Given the description of an element on the screen output the (x, y) to click on. 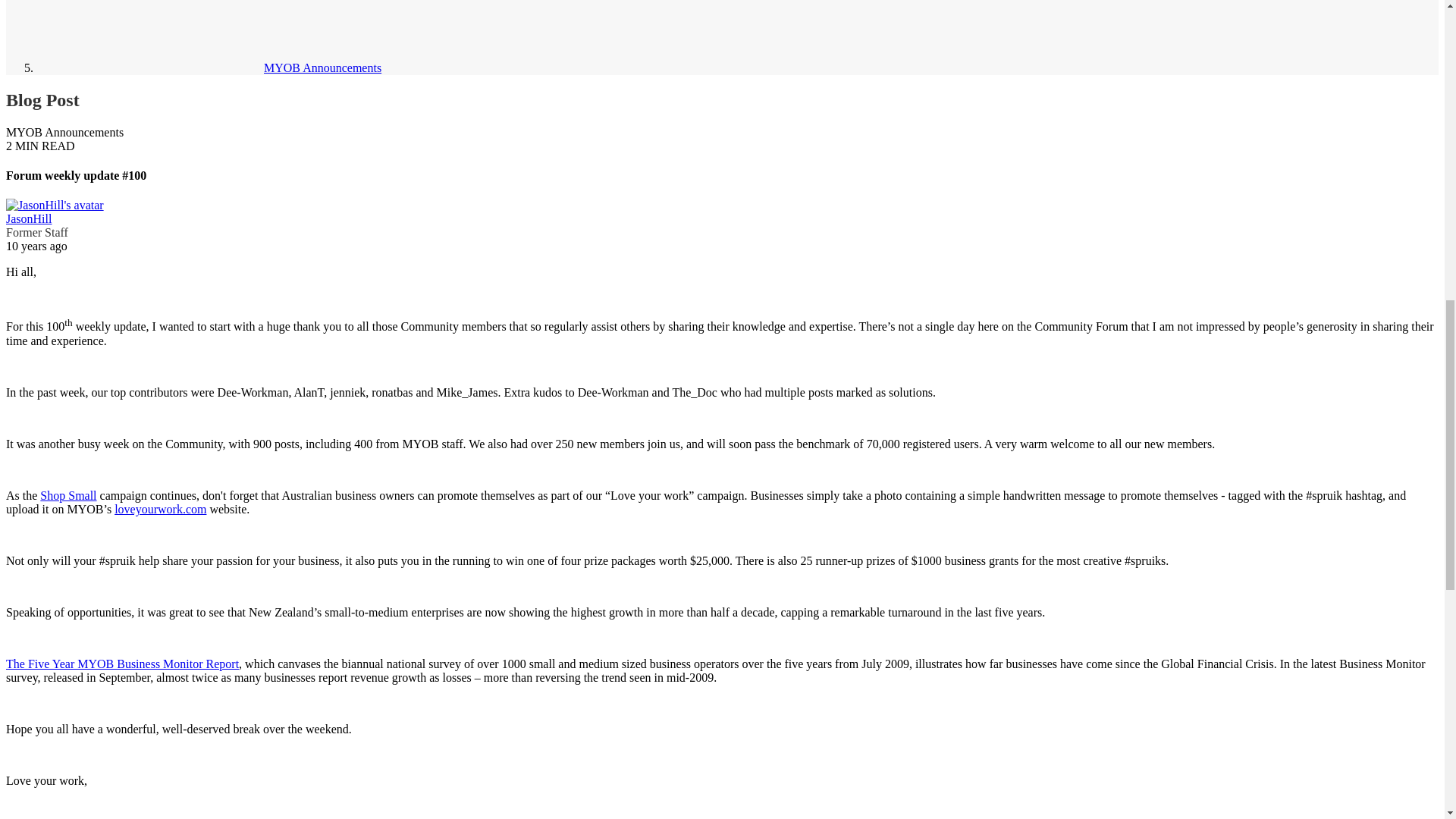
ronatbas (391, 391)
loveyourwork.com (160, 508)
MYOB Announcements (208, 67)
AlanT (309, 391)
The Five Year MYOB Business Monitor Report (121, 663)
Shop Small (68, 495)
JasonHill (27, 218)
November 14, 2014 at 2:50 AM (35, 245)
jenniek (347, 391)
Dee-Workman (252, 391)
Dee-Workman (613, 391)
